Given the description of an element on the screen output the (x, y) to click on. 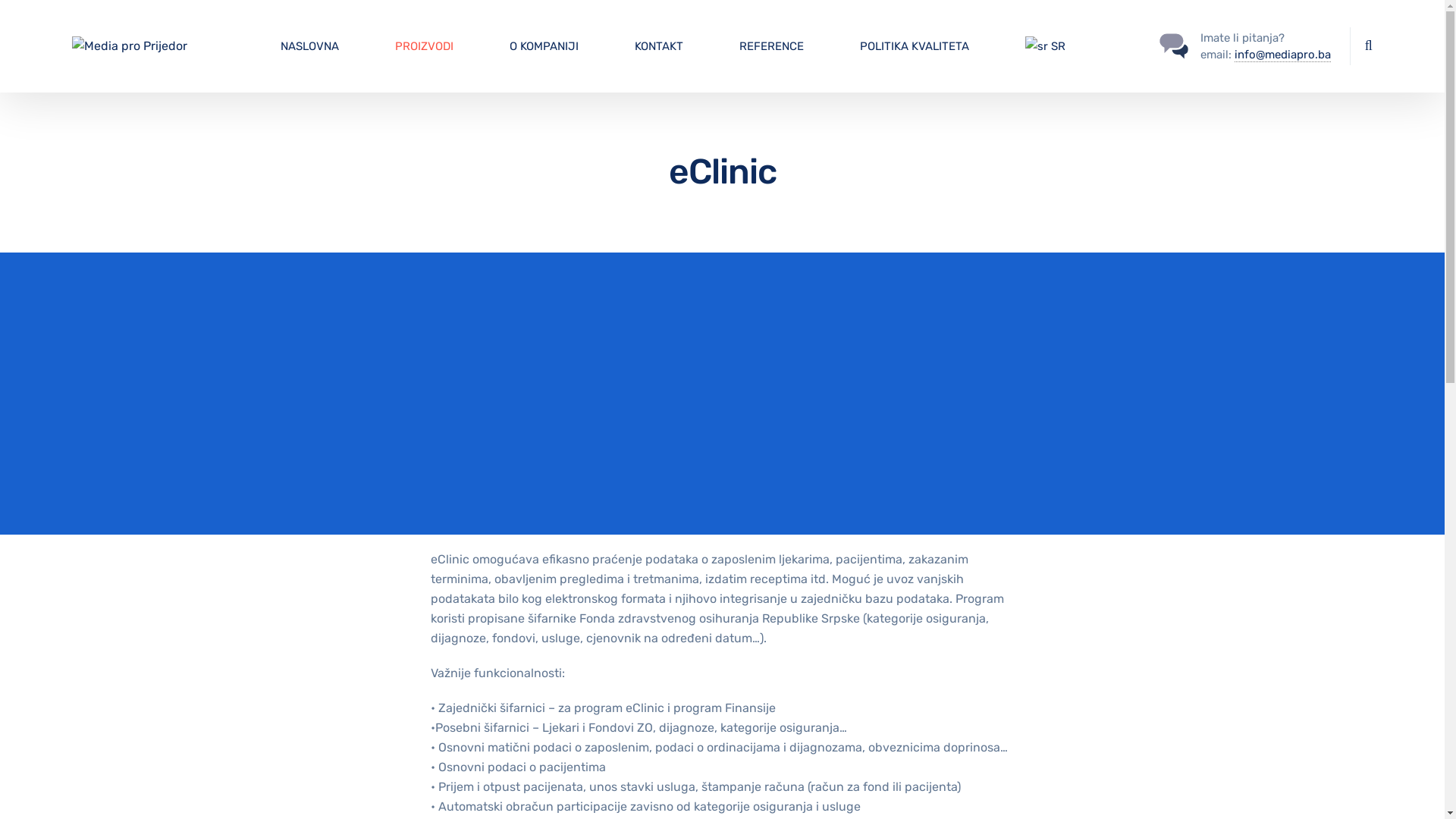
SR Element type: text (1045, 46)
O KOMPANIJI Element type: text (543, 46)
NASLOVNA Element type: text (309, 46)
POLITIKA KVALITETA Element type: text (914, 46)
Search Element type: text (1335, 55)
info@mediapro.ba Element type: text (1282, 54)
REFERENCE Element type: text (771, 46)
KONTAKT Element type: text (658, 46)
PROIZVODI Element type: text (424, 46)
Search Element type: text (1364, 44)
